Given the description of an element on the screen output the (x, y) to click on. 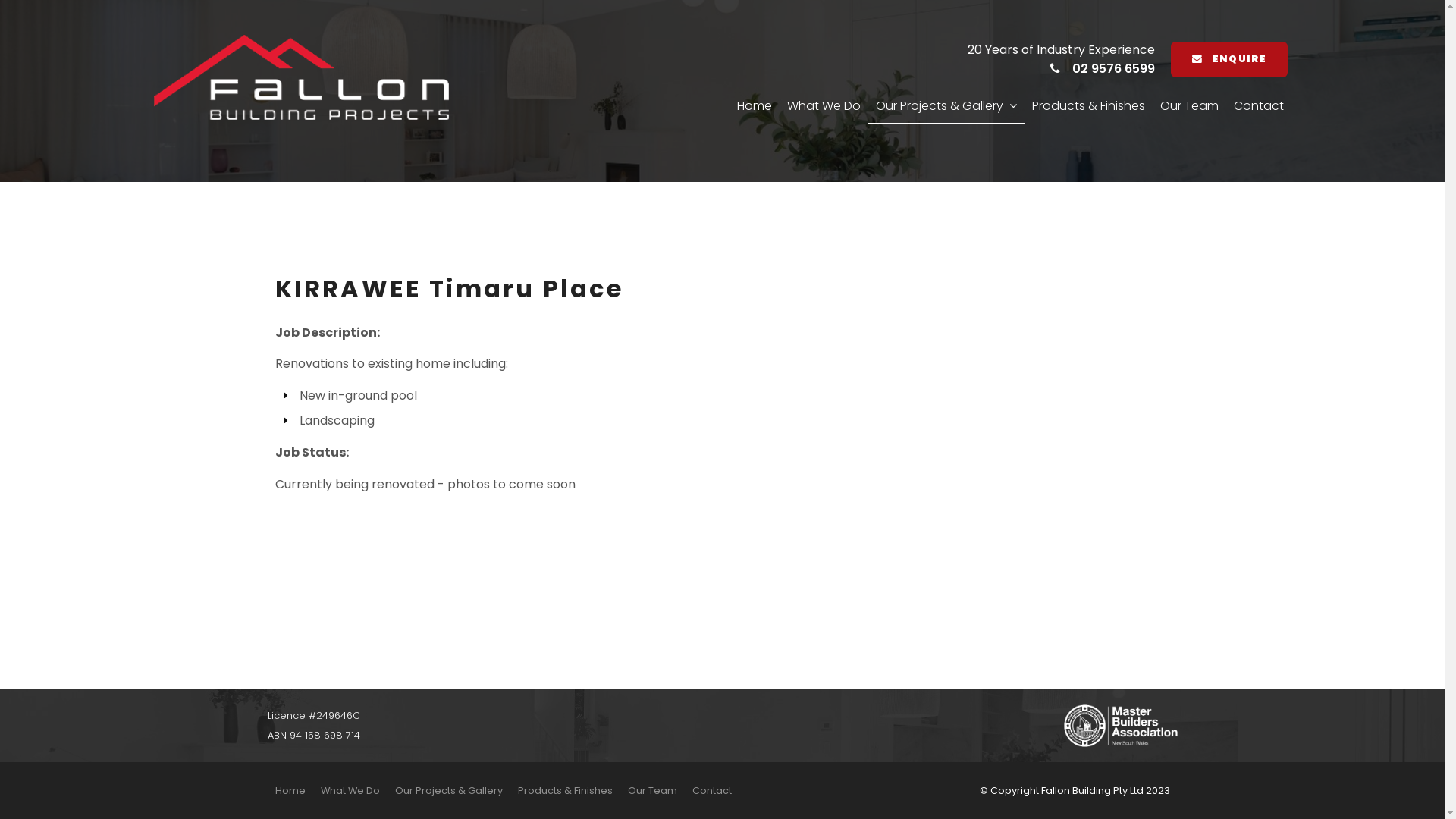
Contact Element type: text (1257, 106)
What We Do Element type: text (823, 106)
Contact Element type: text (711, 790)
Our Team Element type: text (652, 790)
ENQUIRE Element type: text (1228, 59)
Home Element type: text (289, 790)
Our Team Element type: text (1189, 106)
Our Projects & Gallery Element type: text (447, 790)
Products & Finishes Element type: text (1087, 106)
Home Element type: text (754, 106)
What We Do Element type: text (349, 790)
Products & Finishes Element type: text (564, 790)
Our Projects & Gallery Element type: text (945, 106)
